Given the description of an element on the screen output the (x, y) to click on. 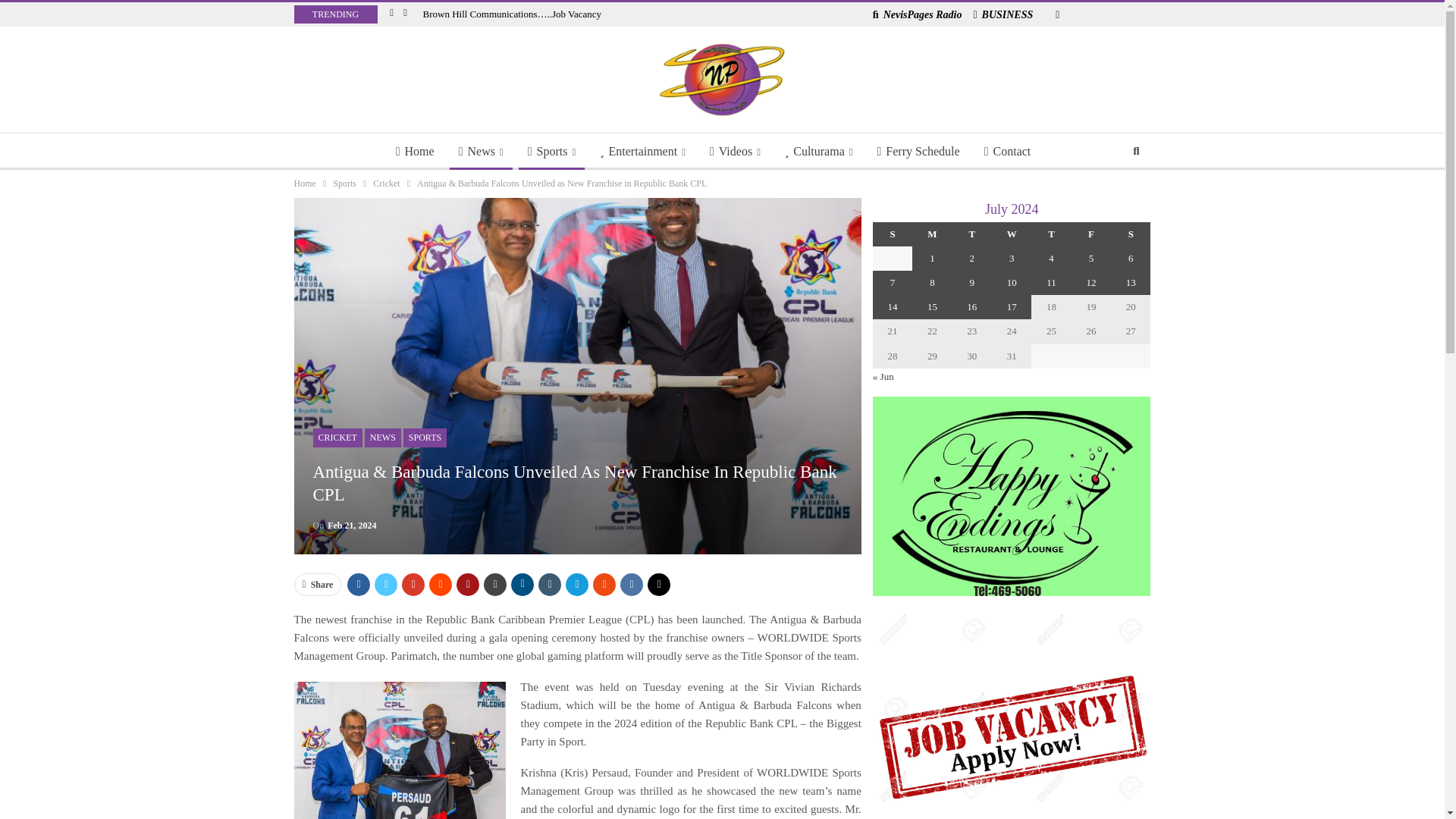
News (480, 151)
Home (415, 151)
BUSINESS (1002, 14)
NevisPages Radio (917, 14)
